Given the description of an element on the screen output the (x, y) to click on. 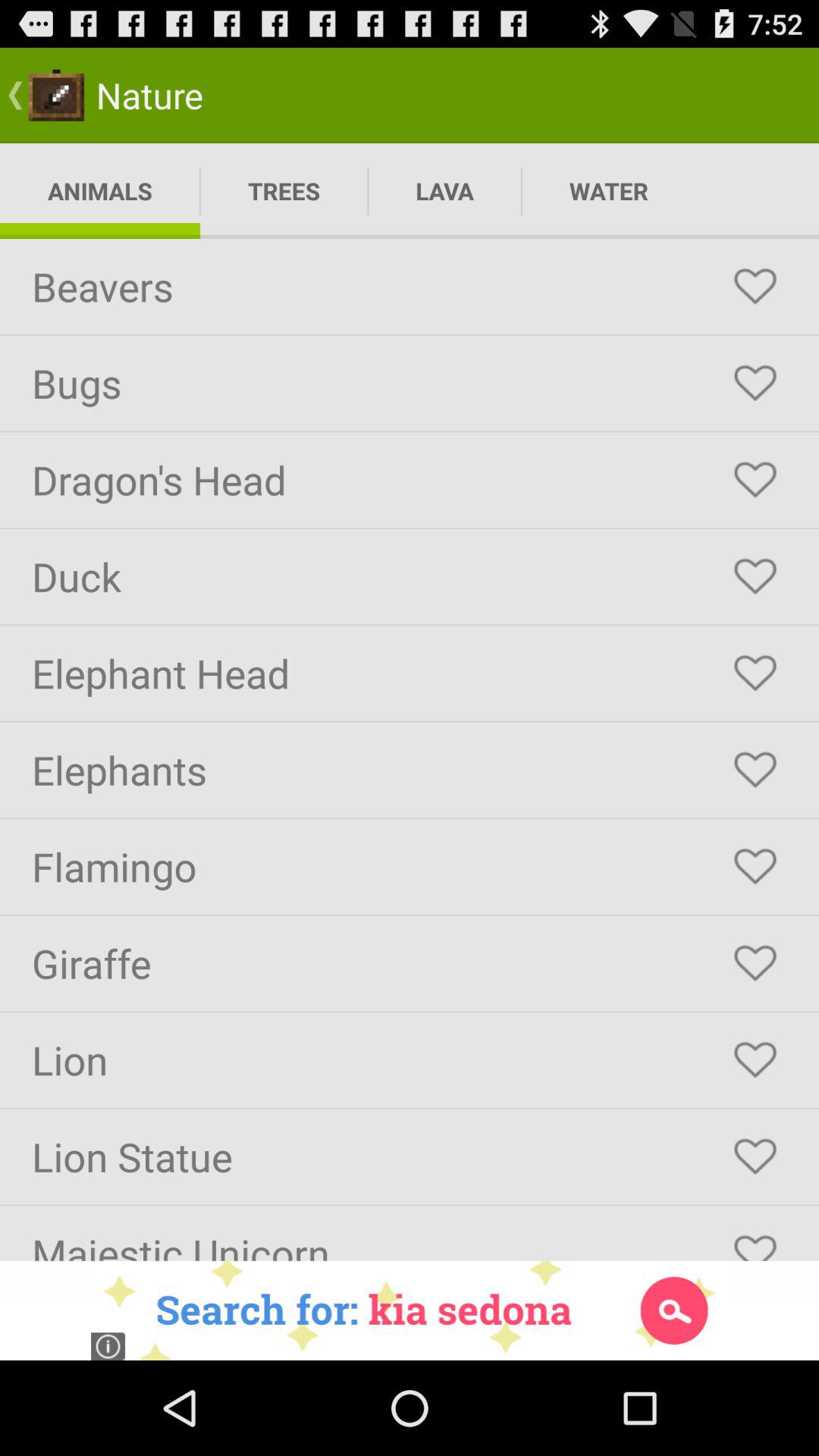
like button (755, 866)
